Given the description of an element on the screen output the (x, y) to click on. 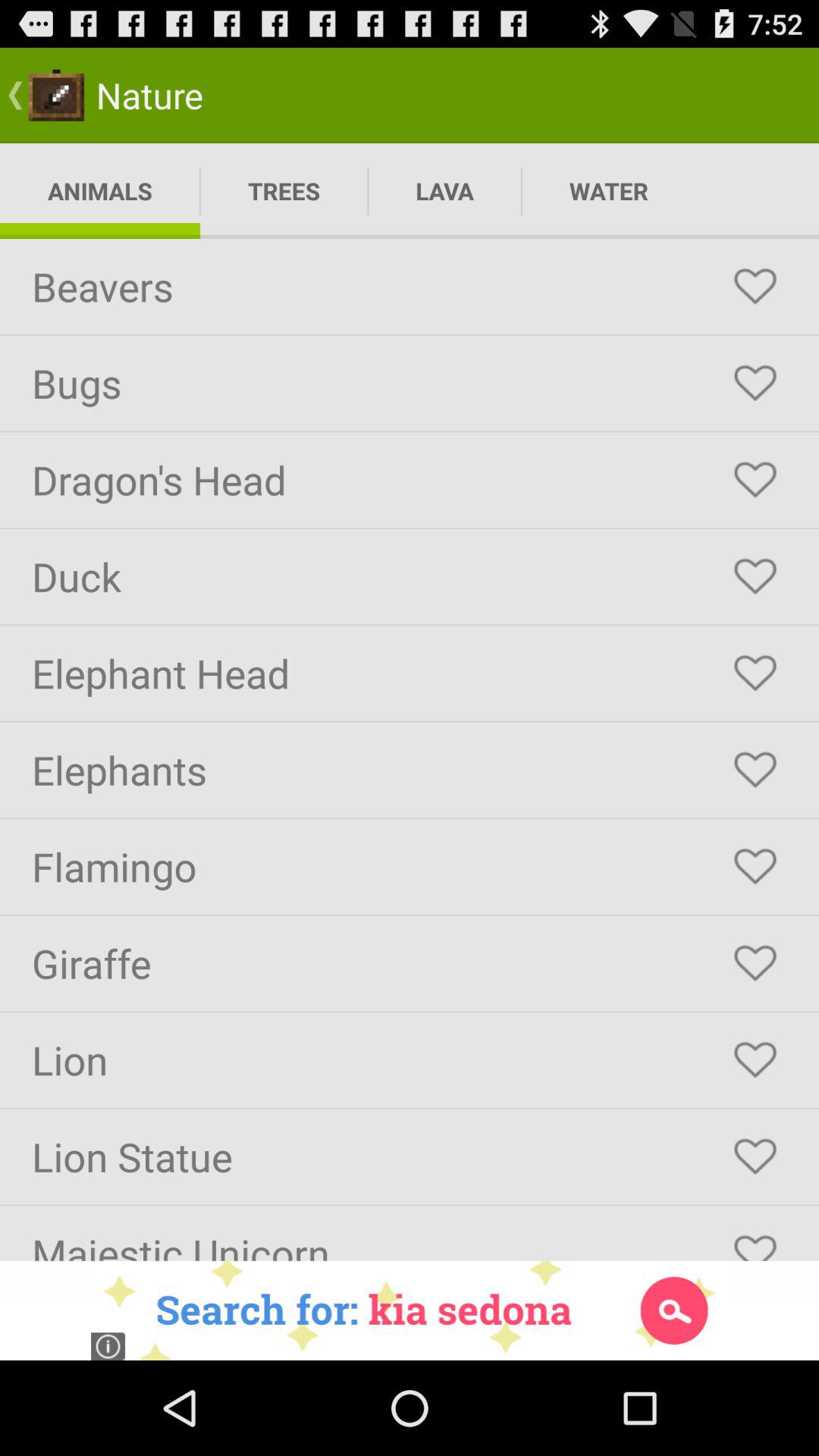
like button (755, 866)
